Given the description of an element on the screen output the (x, y) to click on. 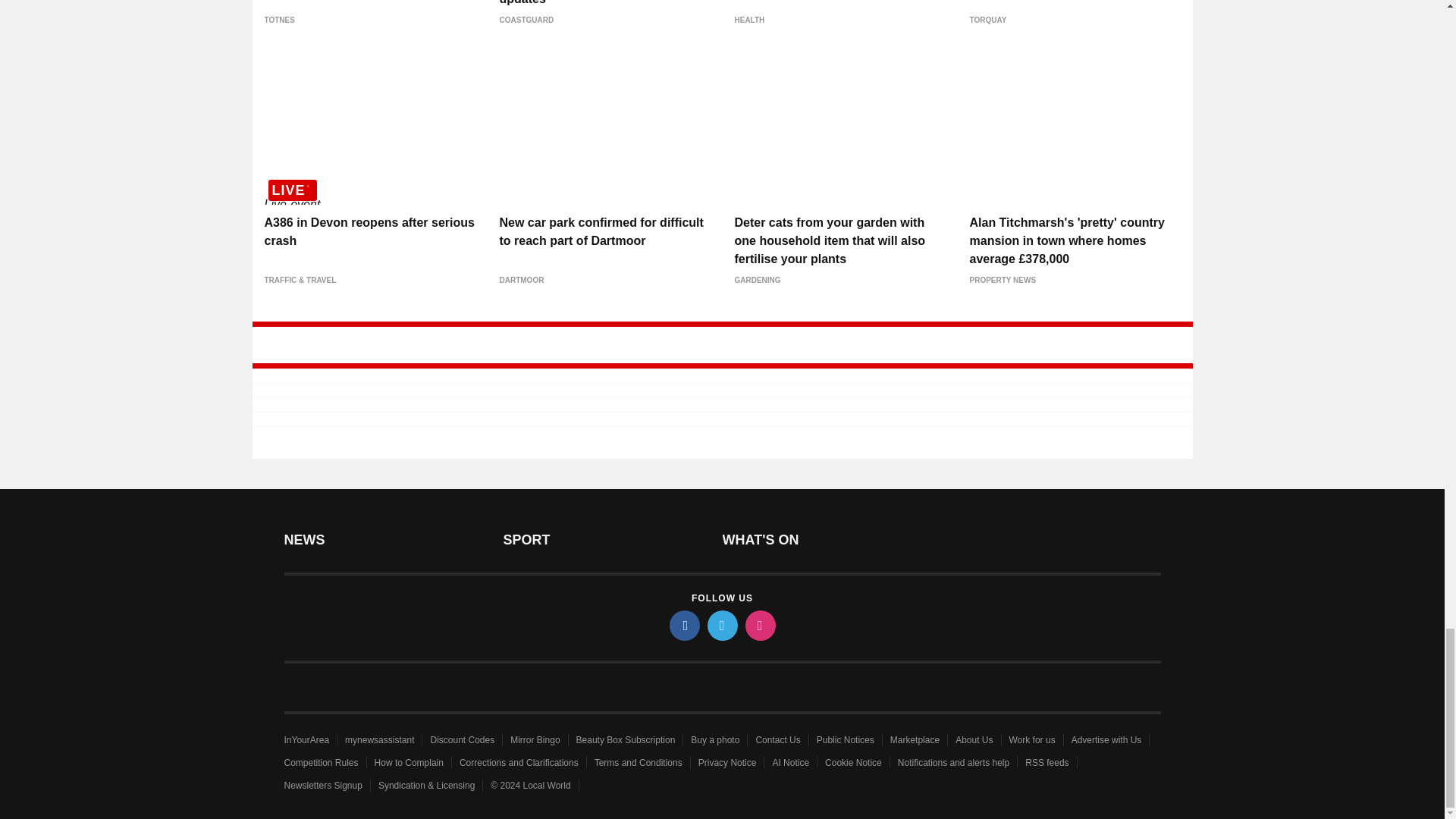
twitter (721, 625)
instagram (759, 625)
facebook (683, 625)
